Given the description of an element on the screen output the (x, y) to click on. 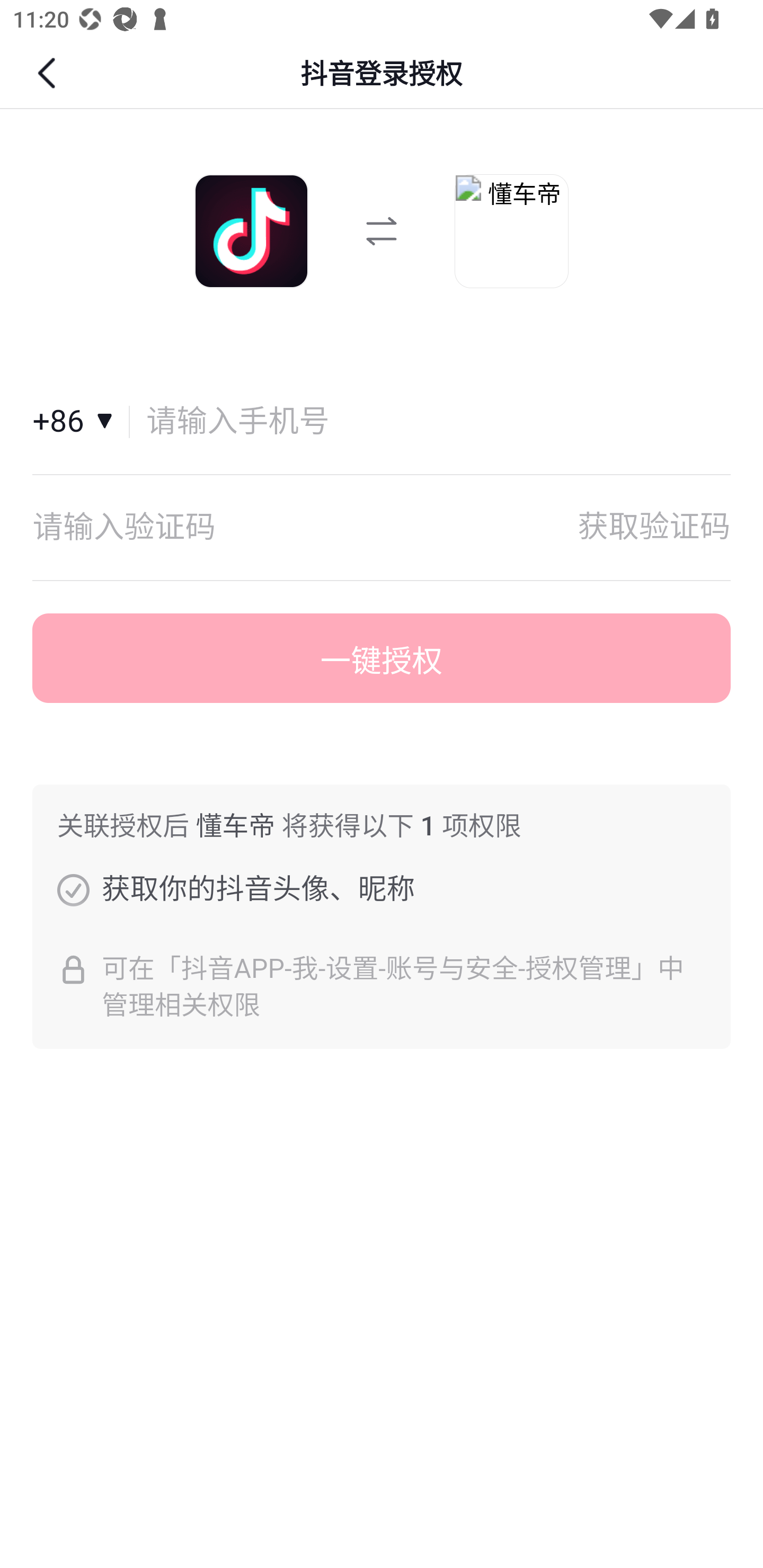
返回 (49, 72)
国家和地区+86 (81, 421)
获取验证码 (653, 526)
一键授权 (381, 658)
获取你的抖音头像、昵称 (72, 889)
